Given the description of an element on the screen output the (x, y) to click on. 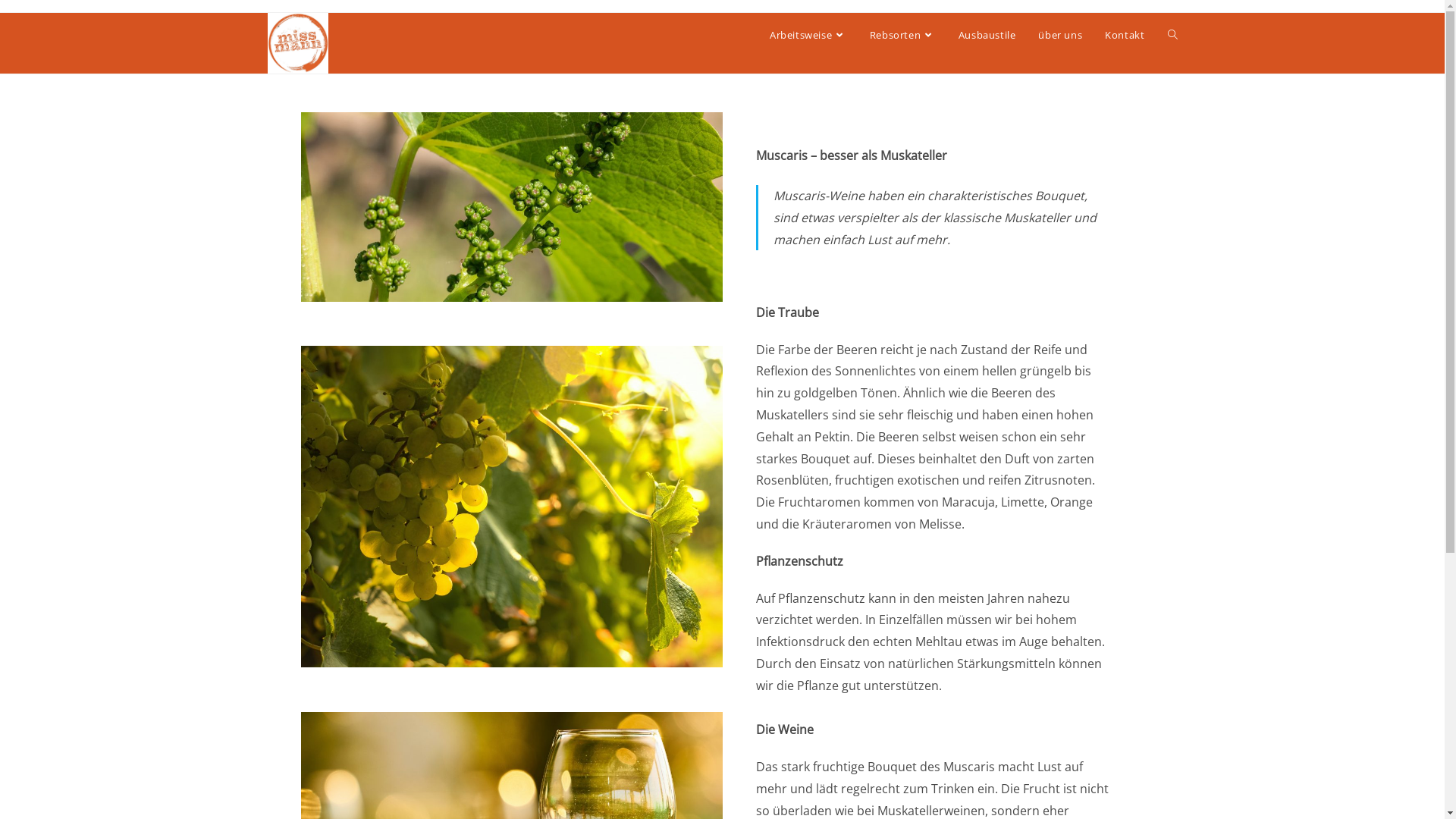
Rebsorten Element type: text (902, 34)
Toggle website search Element type: text (1171, 34)
Ausbaustile Element type: text (987, 34)
Arbeitsweise Element type: text (808, 34)
Kontakt Element type: text (1124, 34)
